Given the description of an element on the screen output the (x, y) to click on. 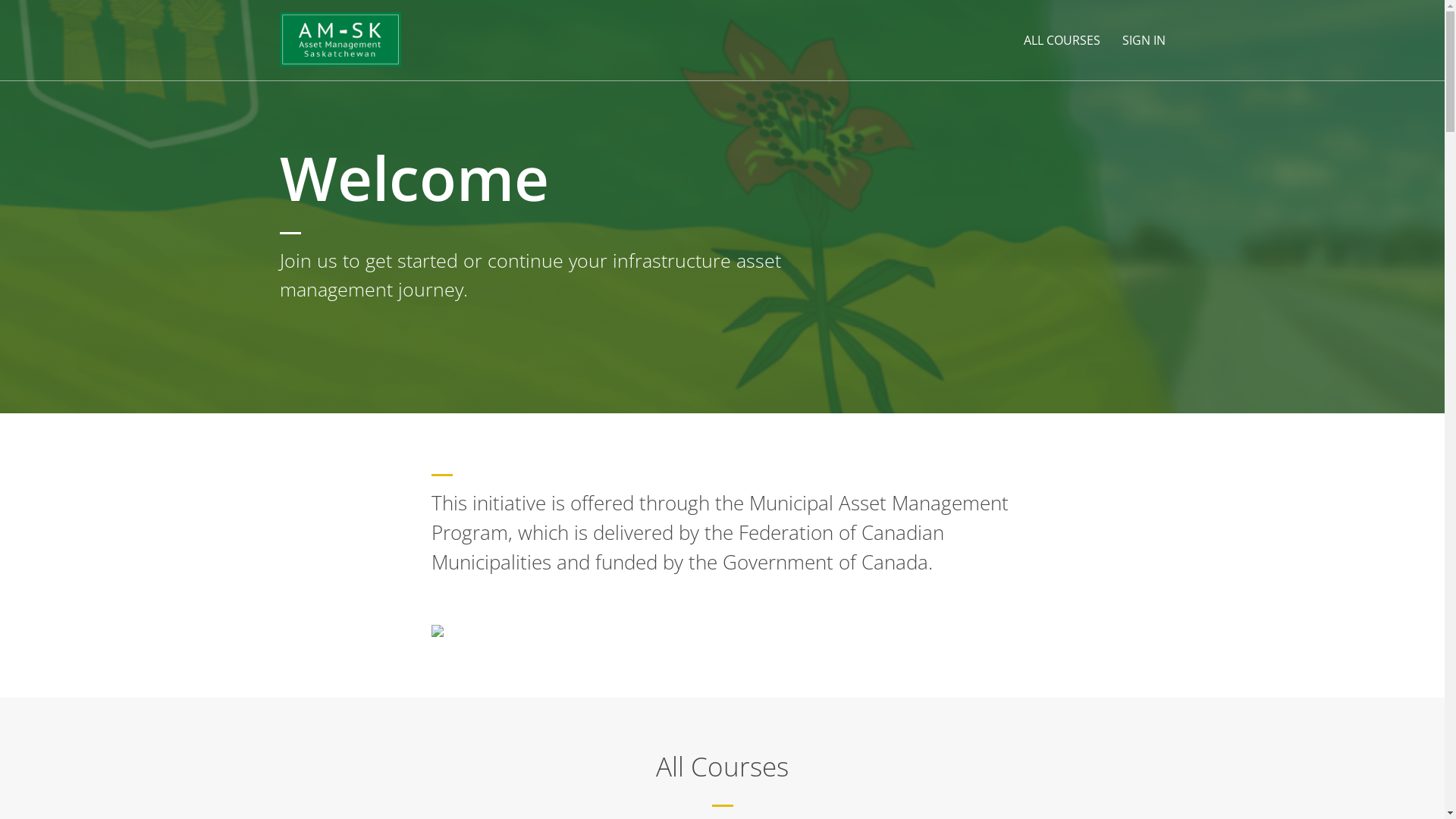
ALL COURSES Element type: text (1061, 39)
SIGN IN Element type: text (1143, 39)
